Given the description of an element on the screen output the (x, y) to click on. 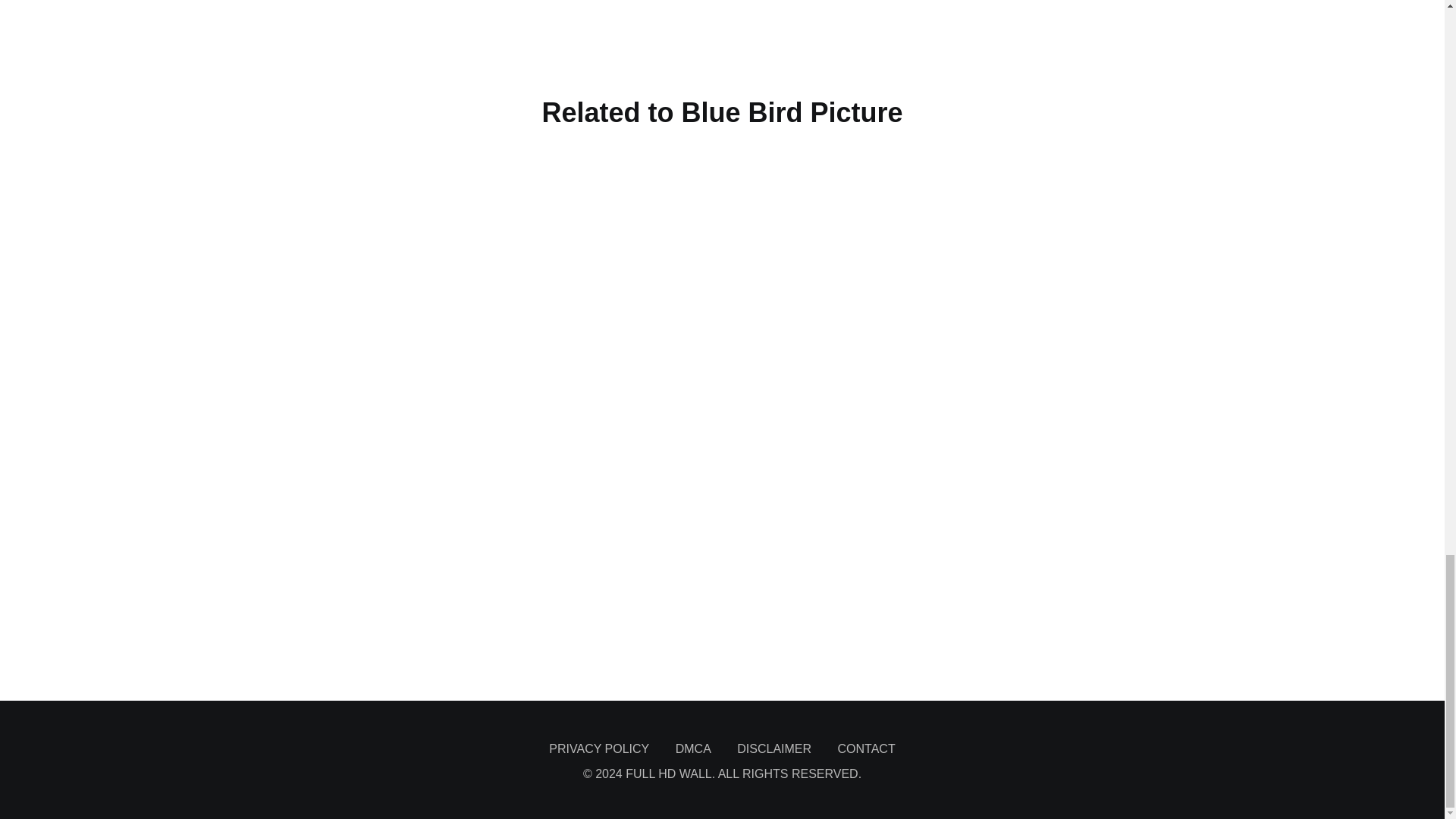
Advertisement (721, 36)
Advertisement (721, 582)
Advertisement (721, 658)
